Given the description of an element on the screen output the (x, y) to click on. 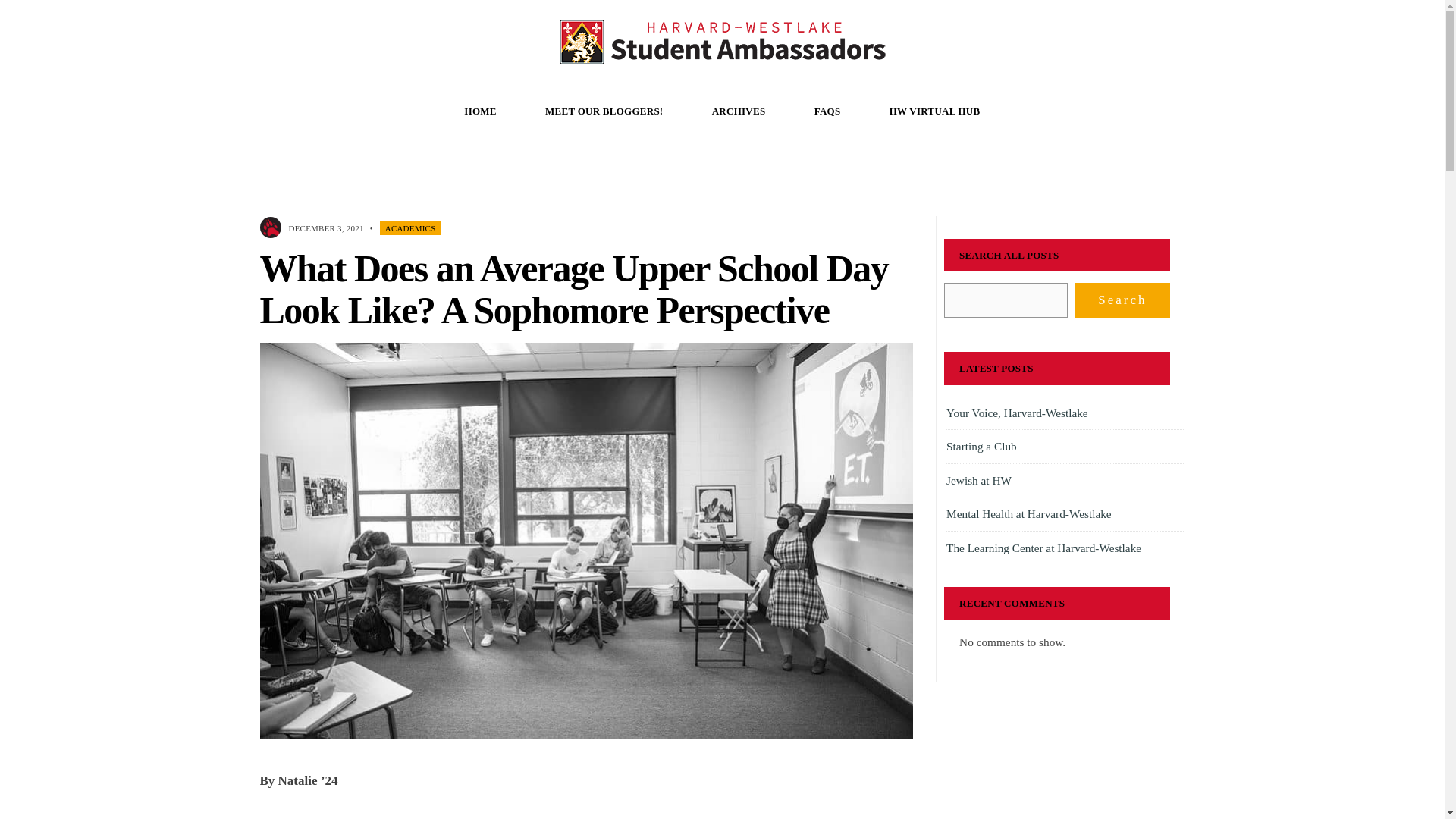
Search (1122, 299)
ACADEMICS (410, 228)
MEET OUR BLOGGERS! (603, 110)
Your Voice, Harvard-Westlake (1016, 412)
ARCHIVES (738, 110)
HW VIRTUAL HUB (934, 110)
